Given the description of an element on the screen output the (x, y) to click on. 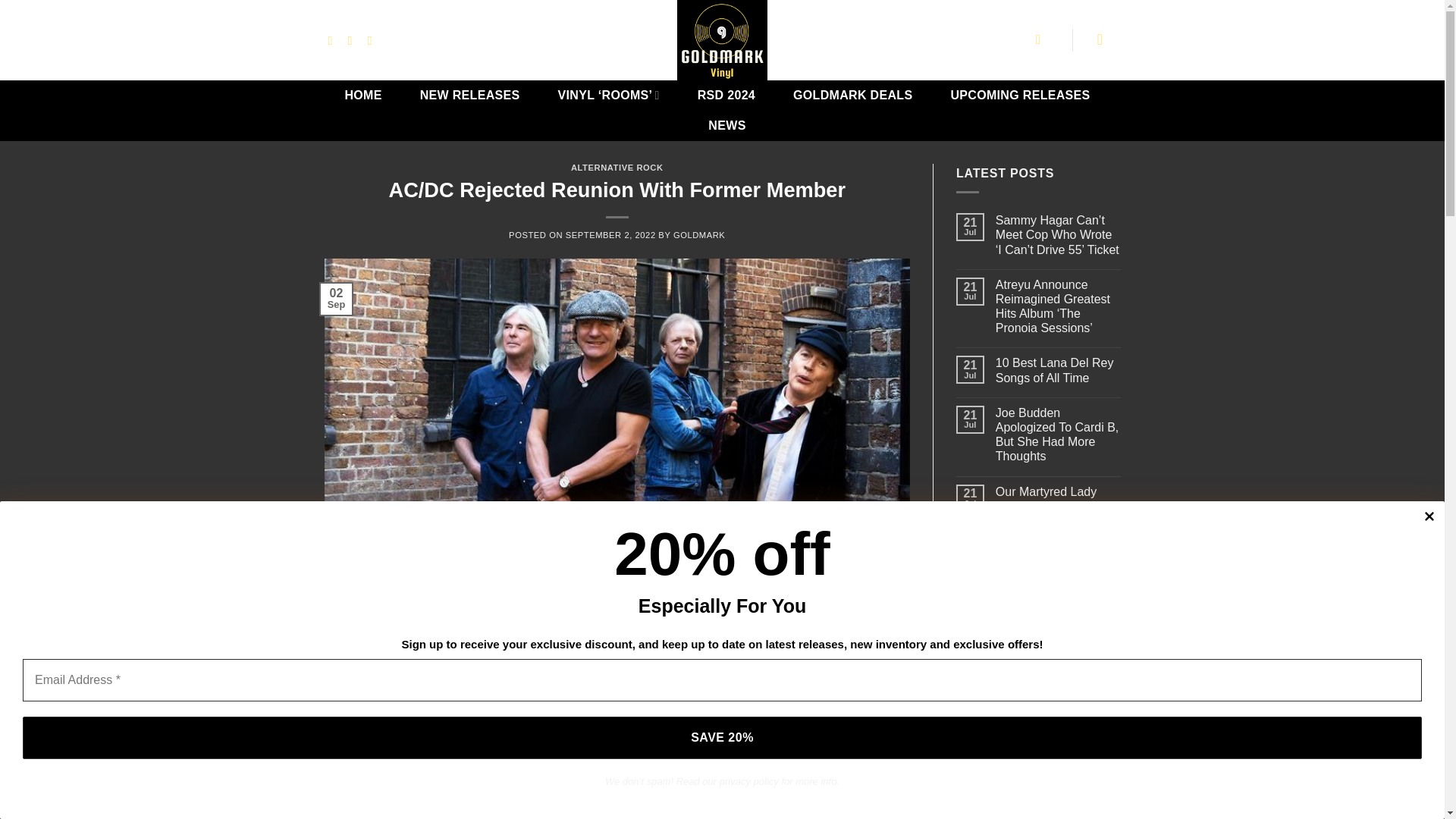
GOLDMARK (698, 234)
RSD 2024 (726, 95)
GOLDMARK DEALS (852, 95)
Follow on Twitter (353, 39)
privacy policy (748, 780)
NEW RELEASES (469, 95)
acdcoutside2014 (587, 721)
UPCOMING RELEASES (1019, 95)
ALTERNATIVE ROCK (616, 166)
Send us an email (374, 39)
SEPTEMBER 2, 2022 (611, 234)
HOME (362, 95)
Email Address (722, 679)
goldmarkvinyl (722, 40)
NEWS (726, 125)
